Given the description of an element on the screen output the (x, y) to click on. 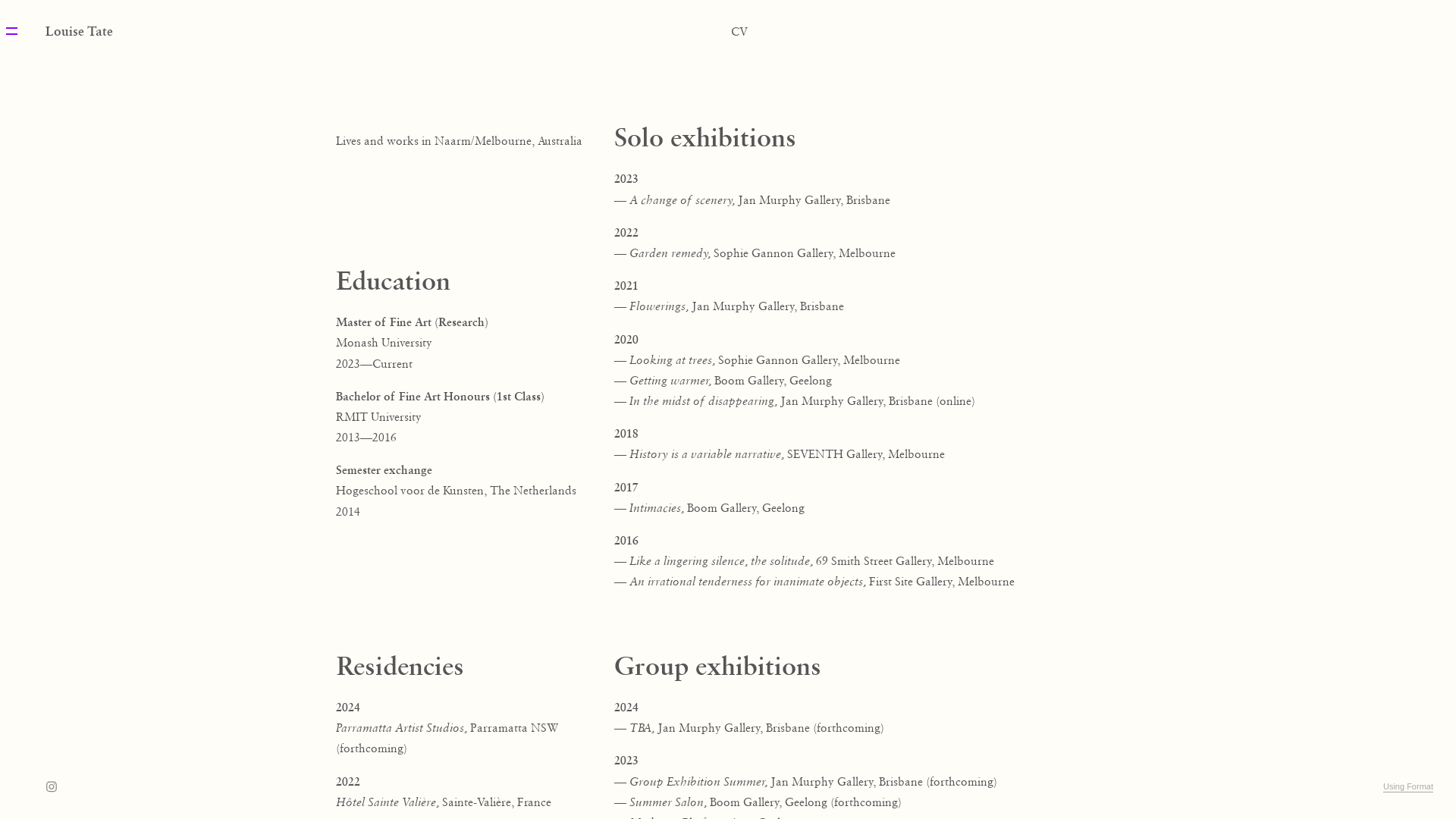
Louise Tate Element type: text (78, 30)
Instagram Element type: hover (51, 786)
Using Format Element type: text (1408, 786)
